Given the description of an element on the screen output the (x, y) to click on. 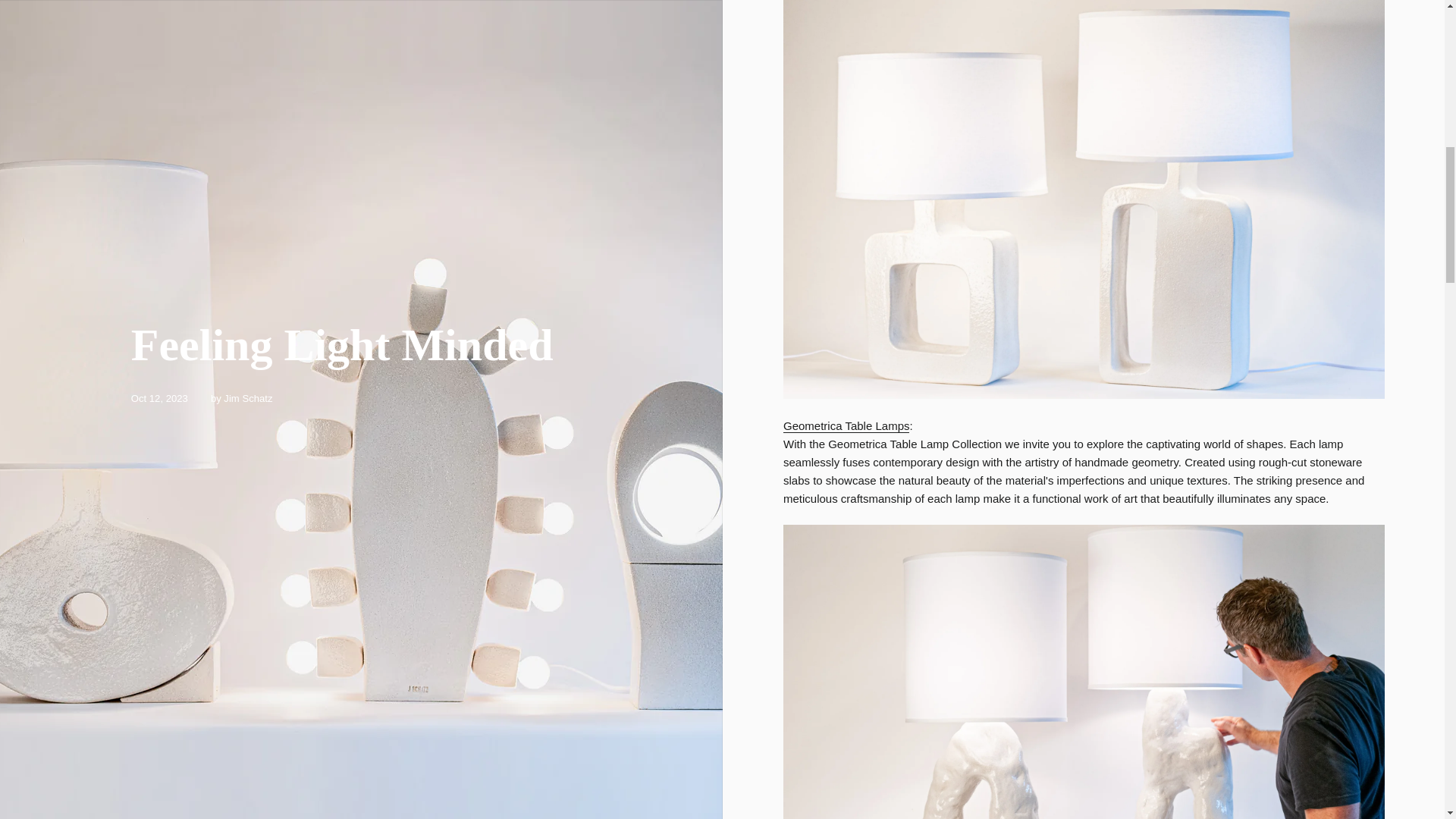
Geometrica Table Lamps (845, 426)
Geometrica Table Lamps (845, 426)
Amorphous Table Lamps (1083, 722)
Geometrica Table Lamps (1083, 196)
